Given the description of an element on the screen output the (x, y) to click on. 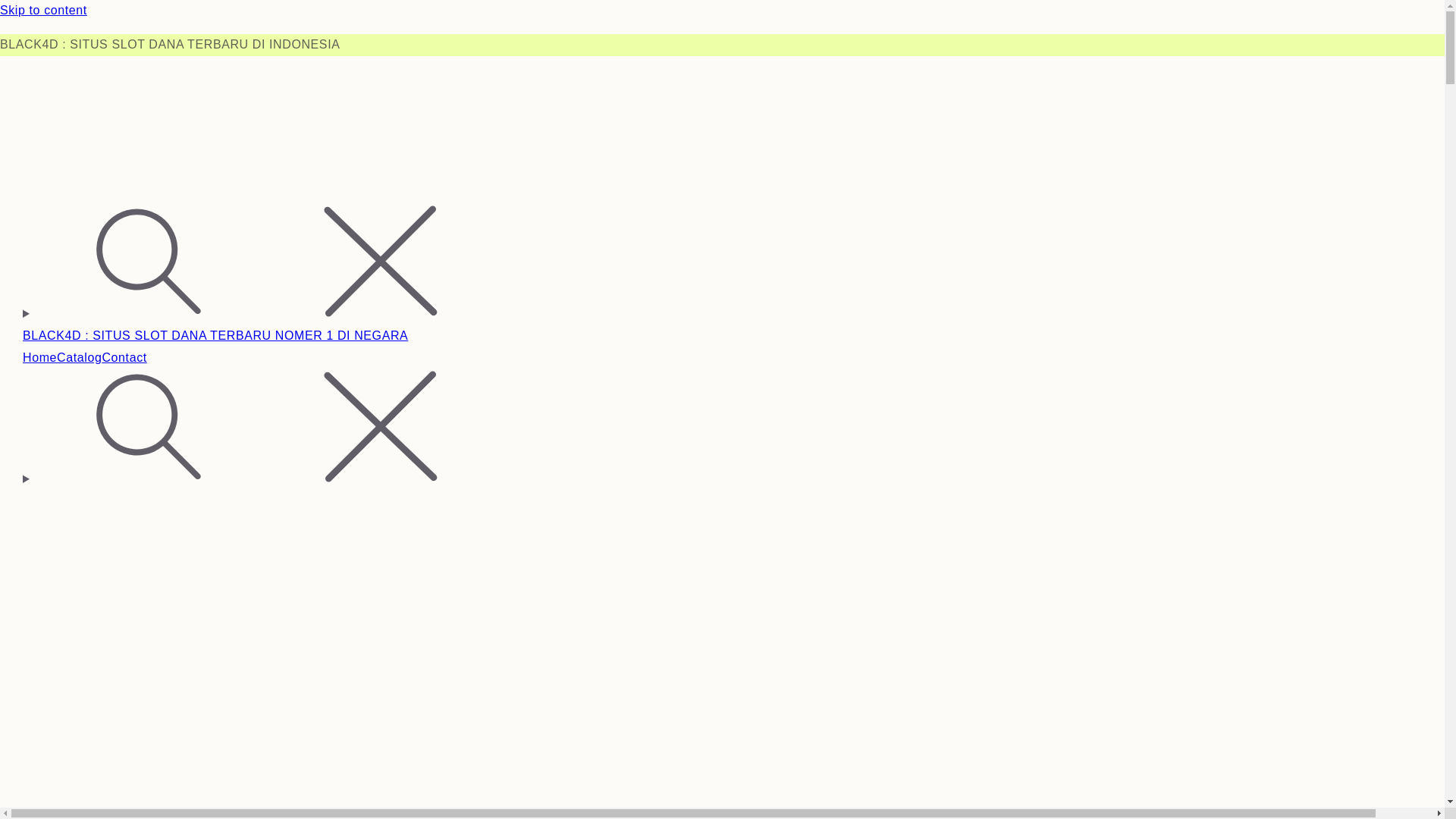
Contact Element type: text (123, 358)
Catalog Element type: text (78, 358)
BLACK4D : SITUS SLOT DANA TERBARU NOMER 1 DI NEGARA Element type: text (214, 335)
Home Element type: text (39, 358)
Skip to content Element type: text (722, 10)
